Given the description of an element on the screen output the (x, y) to click on. 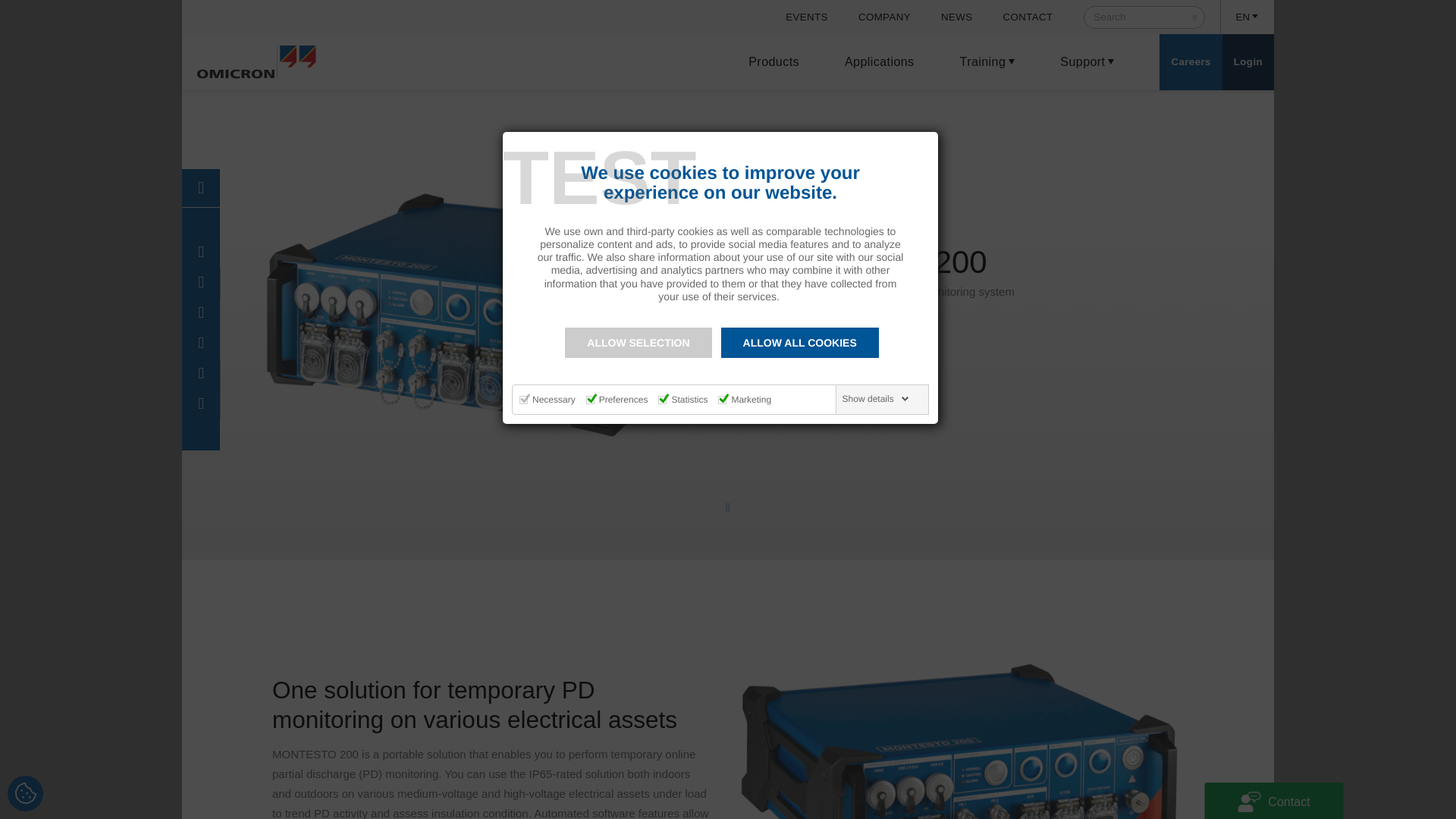
Show details (876, 398)
ALLOW ALL COOKIES (799, 342)
ALLOW SELECTION (637, 342)
